Given the description of an element on the screen output the (x, y) to click on. 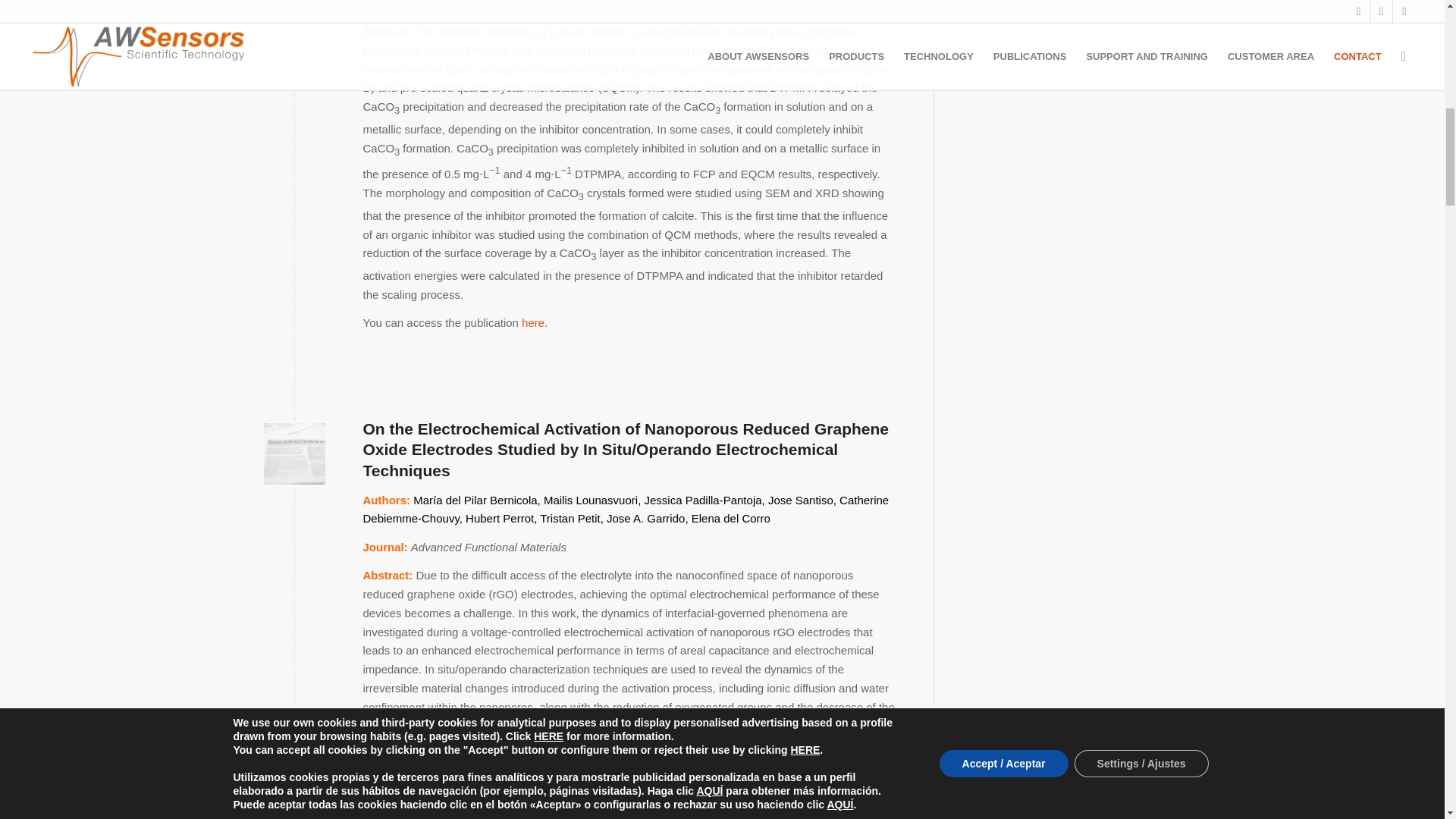
Scientific Publication (293, 453)
here (532, 322)
